Given the description of an element on the screen output the (x, y) to click on. 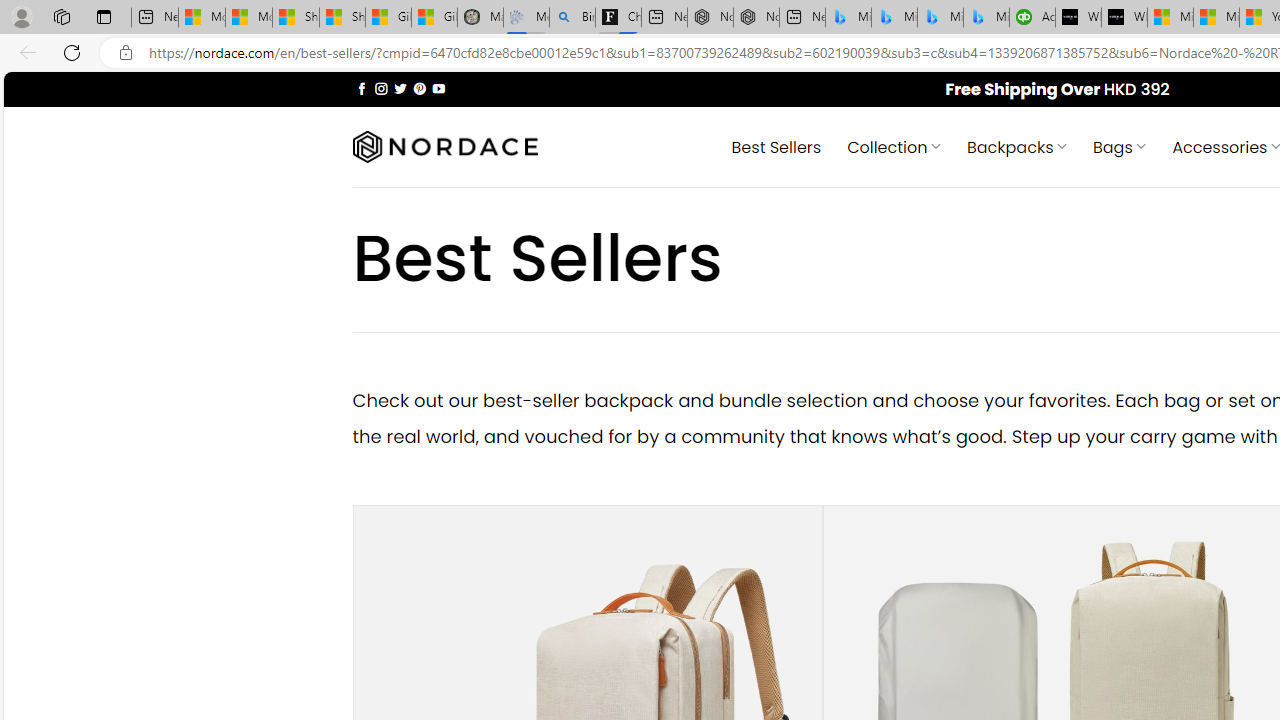
Manatee Mortality Statistics | FWC (480, 17)
Follow on YouTube (438, 88)
Microsoft Bing Travel - Stays in Bangkok, Bangkok, Thailand (893, 17)
Follow on Instagram (381, 88)
